Given the description of an element on the screen output the (x, y) to click on. 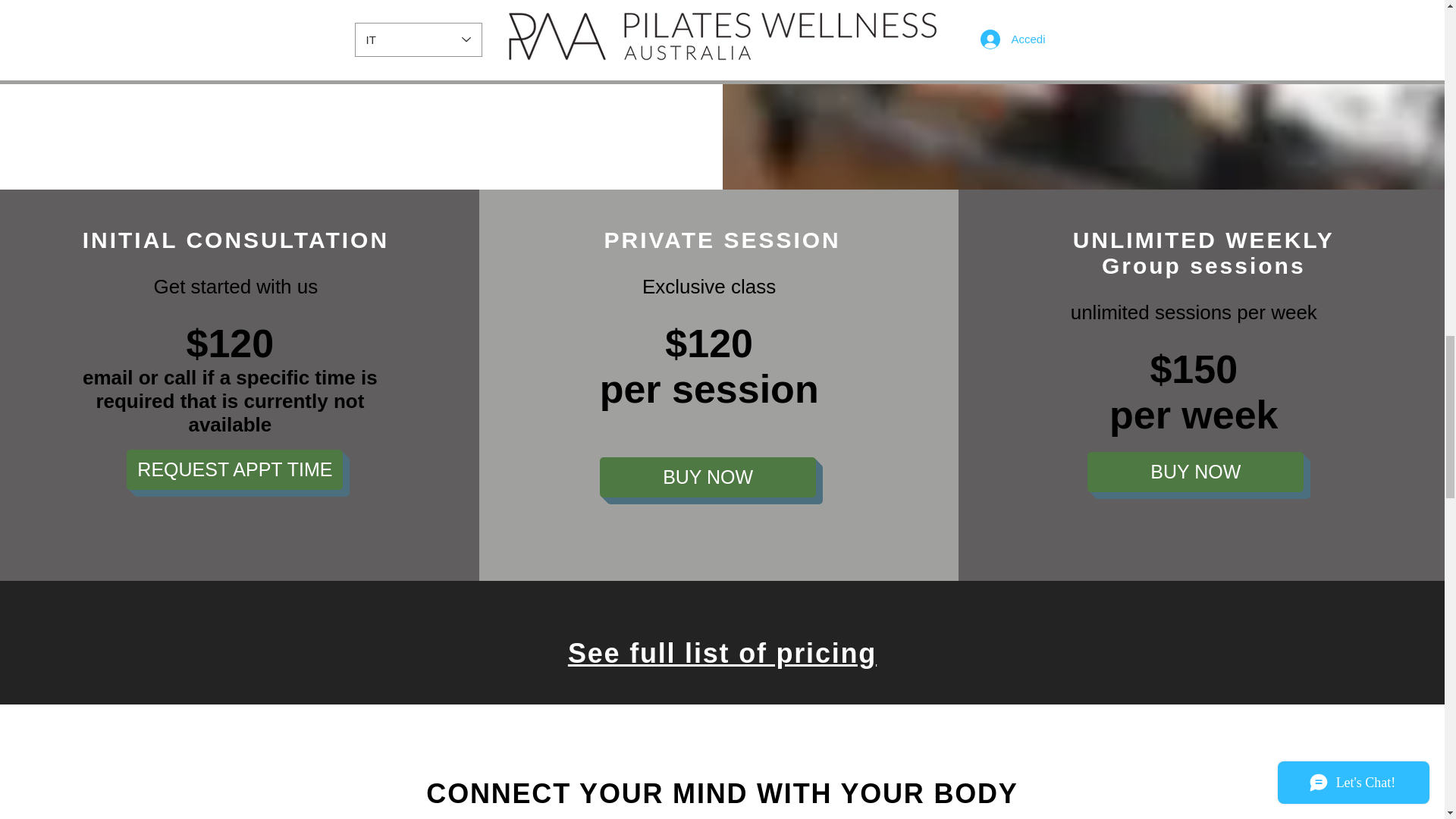
BUY NOW (1195, 472)
See full list of pricing (721, 653)
REQUEST APPT TIME (234, 469)
BUY NOW (707, 477)
